Given the description of an element on the screen output the (x, y) to click on. 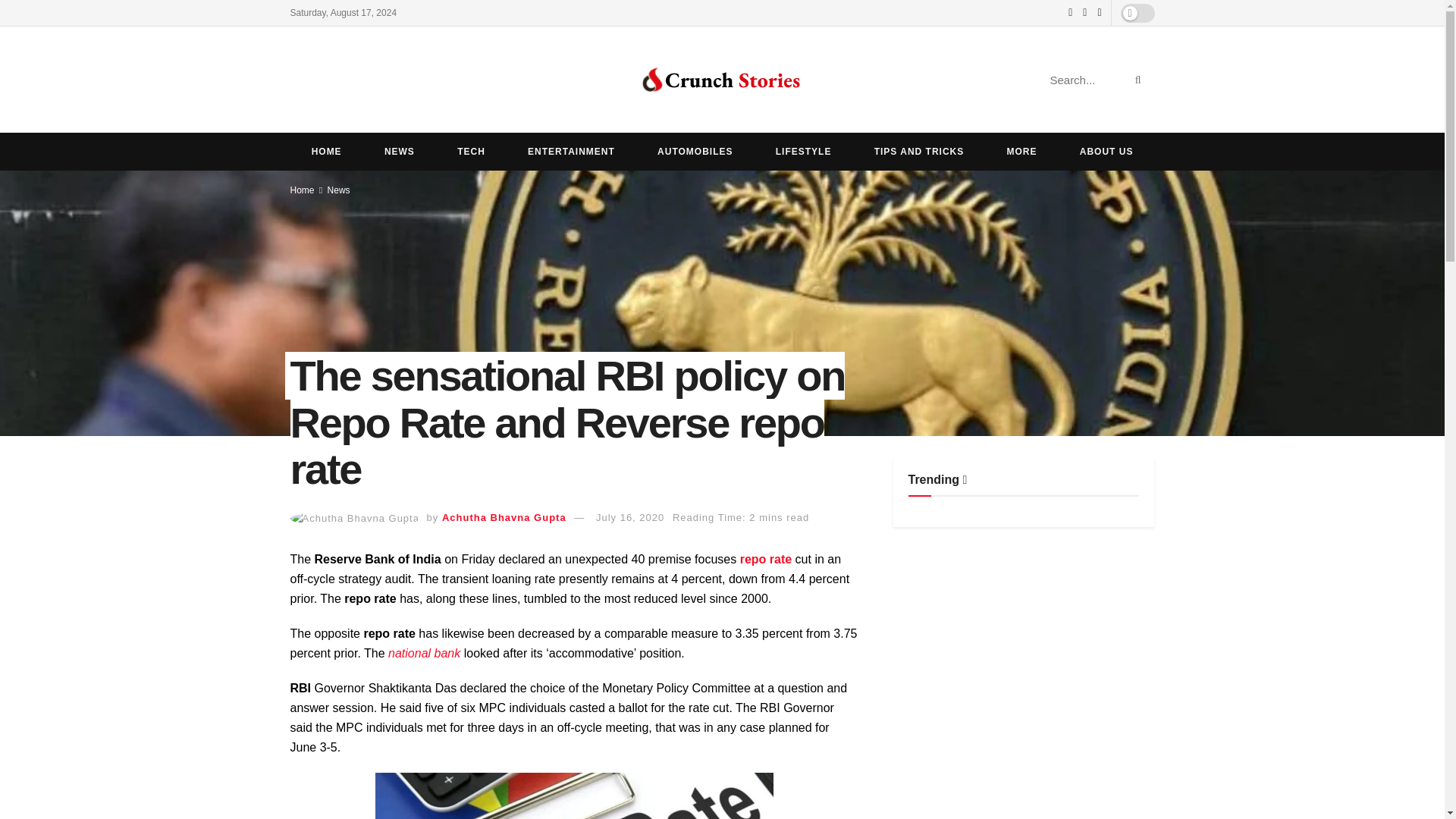
Advertisement (1023, 651)
ENTERTAINMENT (571, 151)
MORE (1021, 151)
TIPS AND TRICKS (919, 151)
LIFESTYLE (803, 151)
AUTOMOBILES (695, 151)
NEWS (398, 151)
ABOUT US (1106, 151)
HOME (325, 151)
TECH (470, 151)
